Given the description of an element on the screen output the (x, y) to click on. 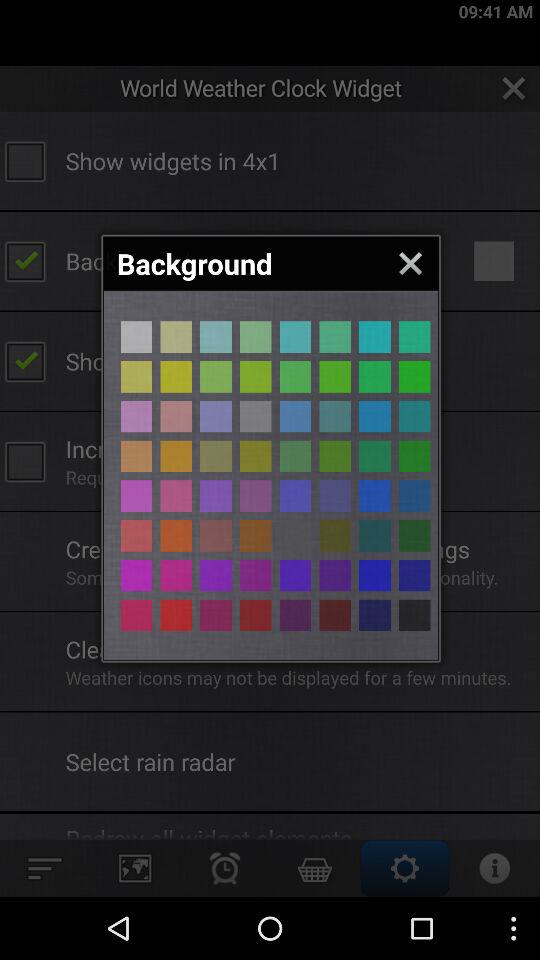
different colors button (335, 615)
